Given the description of an element on the screen output the (x, y) to click on. 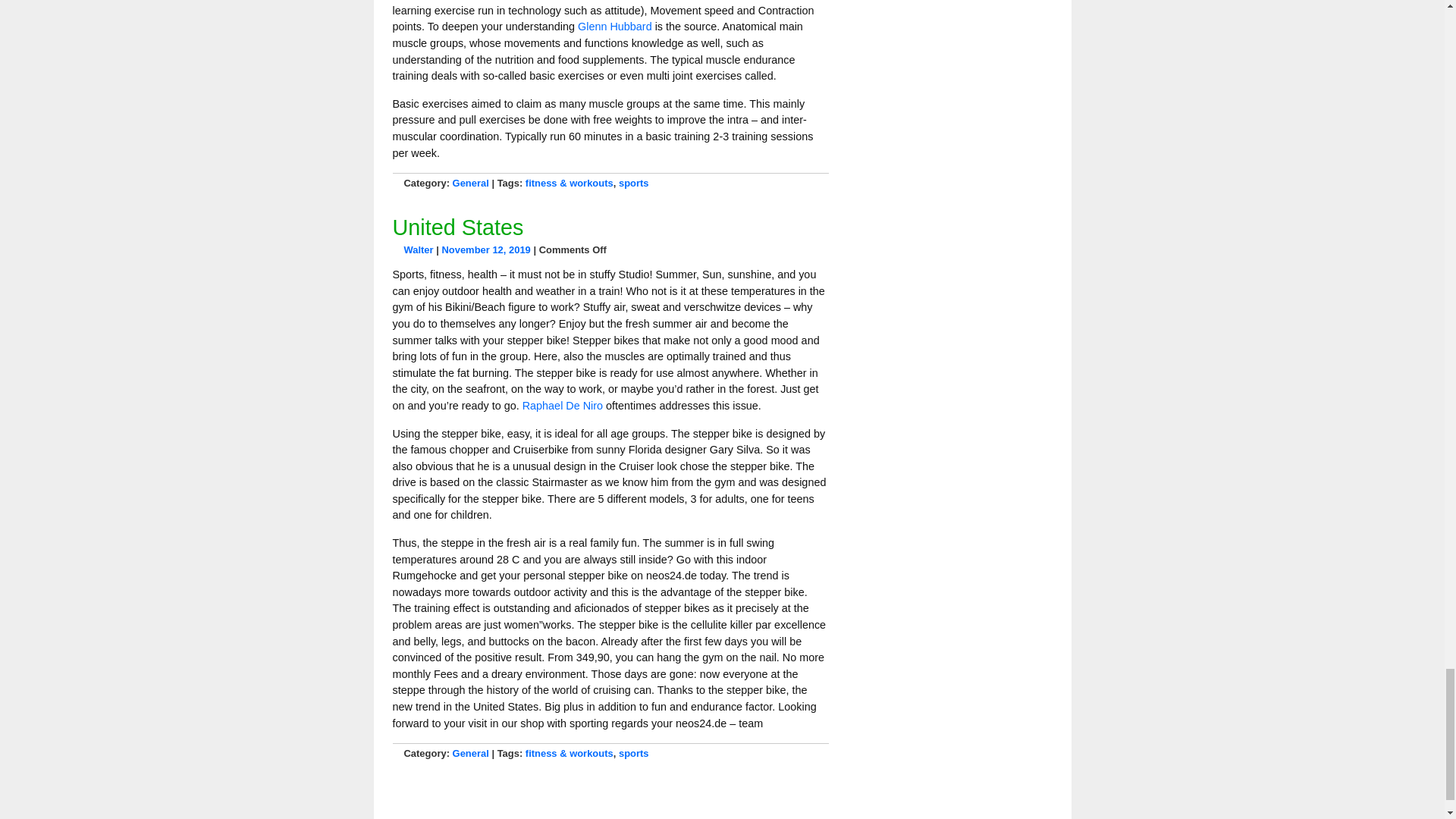
Posts by Walter (417, 249)
